Given the description of an element on the screen output the (x, y) to click on. 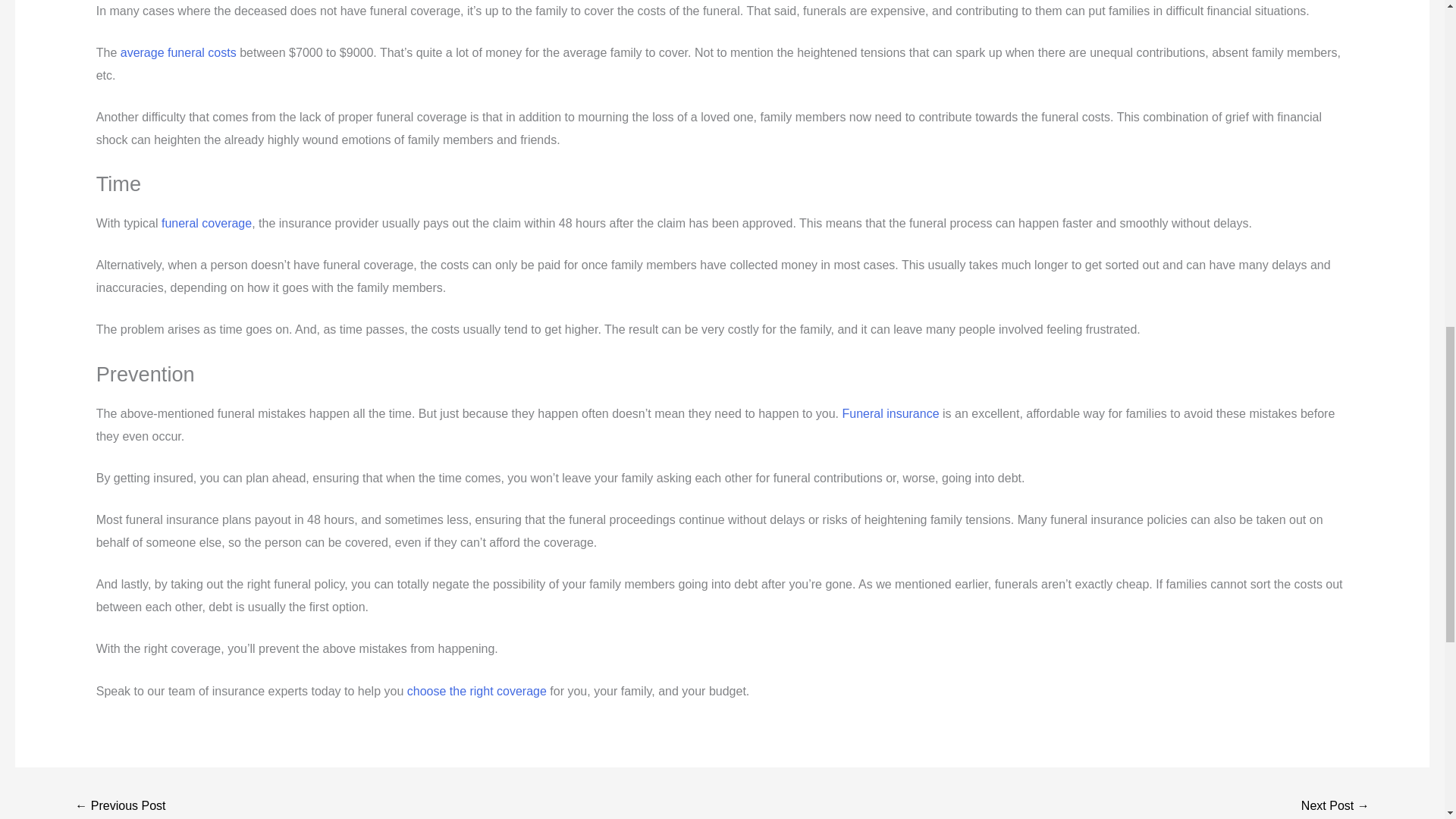
The Legality of Death (1334, 806)
